Given the description of an element on the screen output the (x, y) to click on. 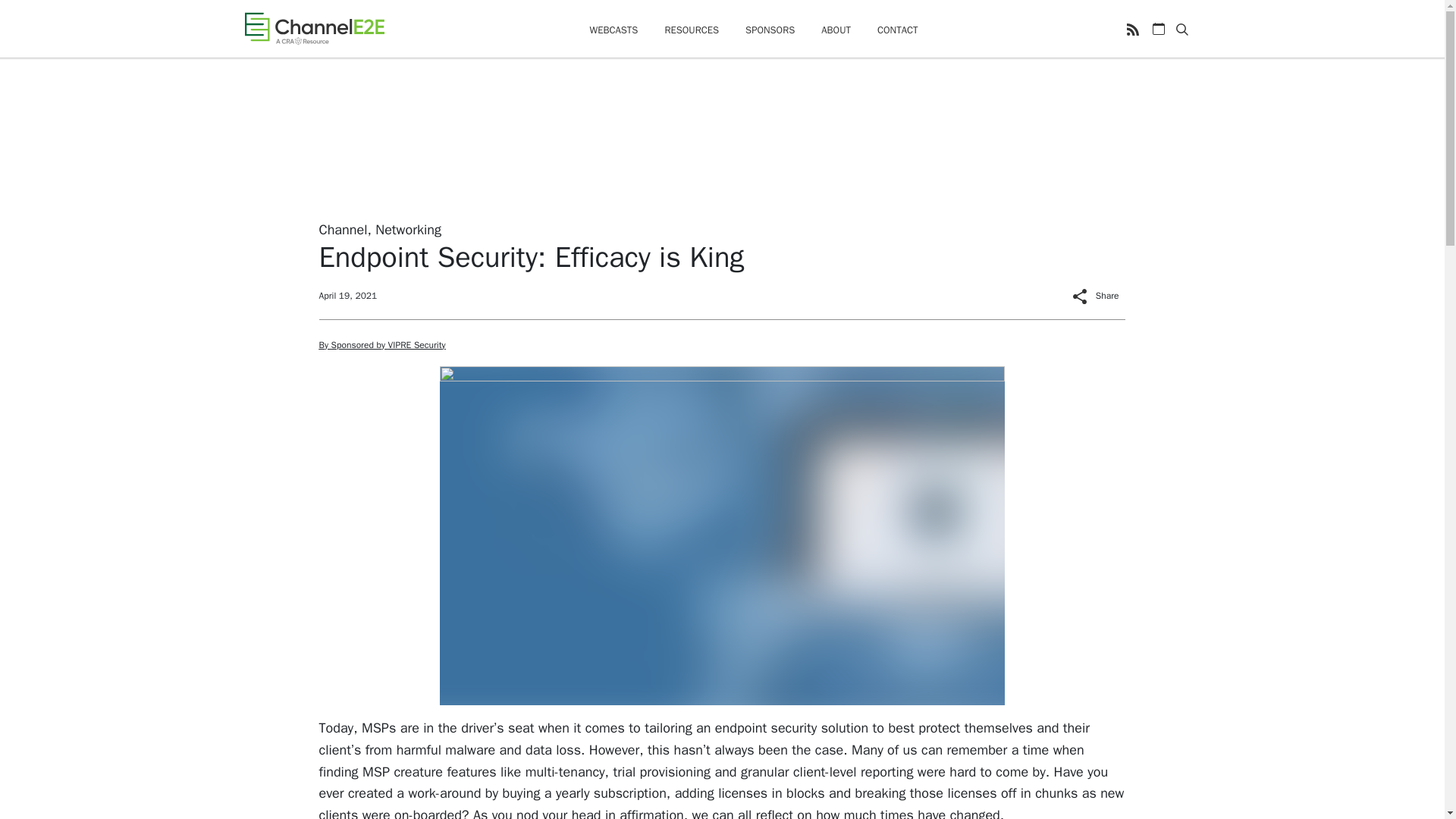
ABOUT (835, 30)
Networking (408, 229)
ChannelE2E (314, 27)
SPONSORS (769, 30)
By Sponsored by VIPRE Security (381, 345)
WEBCASTS (613, 30)
View Cybersecurity Conference Calendar (1158, 28)
CONTACT (897, 30)
Channel (342, 229)
RESOURCES (691, 30)
